Given the description of an element on the screen output the (x, y) to click on. 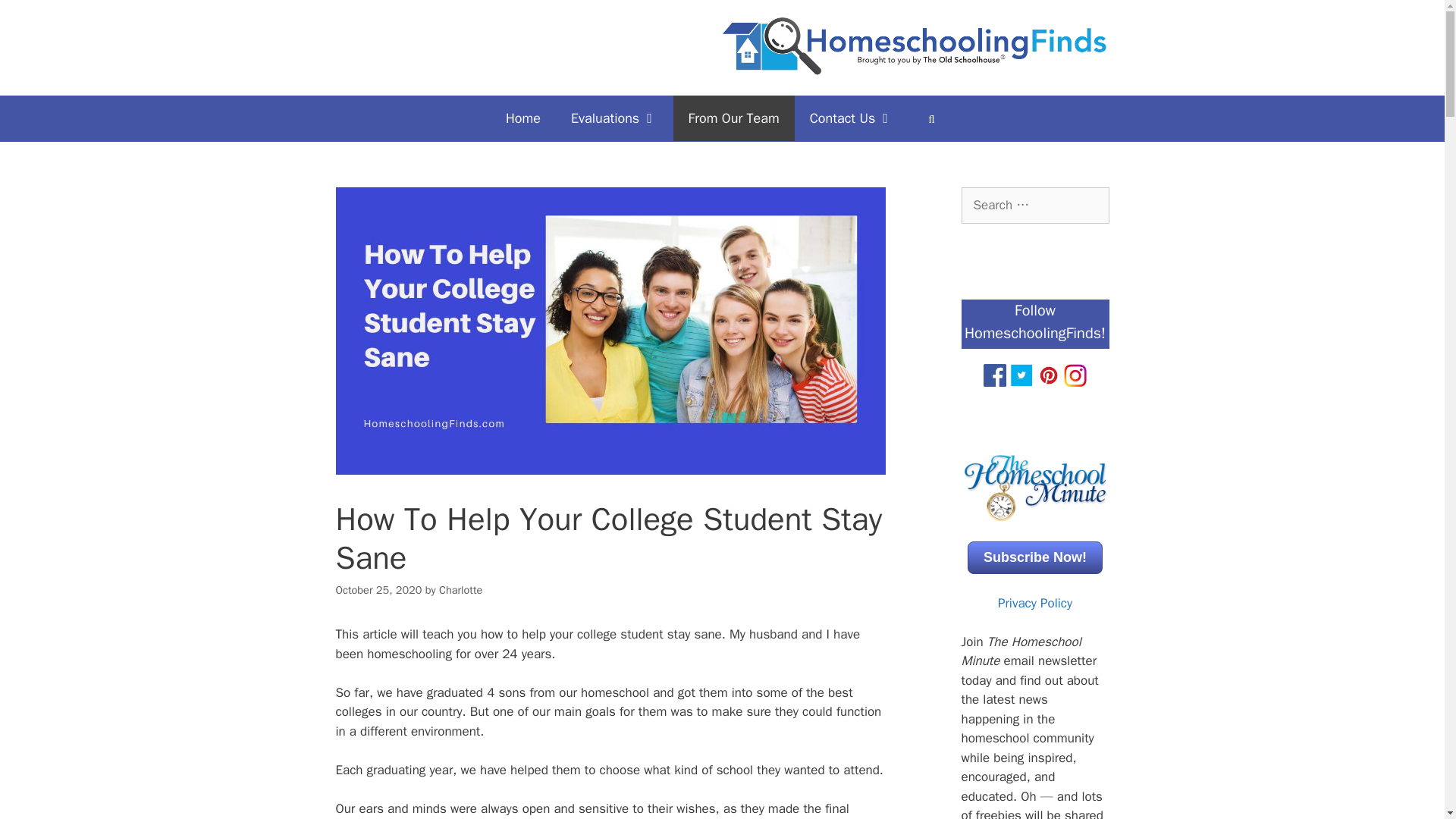
From Our Team (733, 117)
Contact Us (851, 117)
Evaluations (614, 117)
Search for: (1034, 205)
View all posts by Charlotte (460, 590)
Charlotte (460, 590)
Home (523, 117)
